Given the description of an element on the screen output the (x, y) to click on. 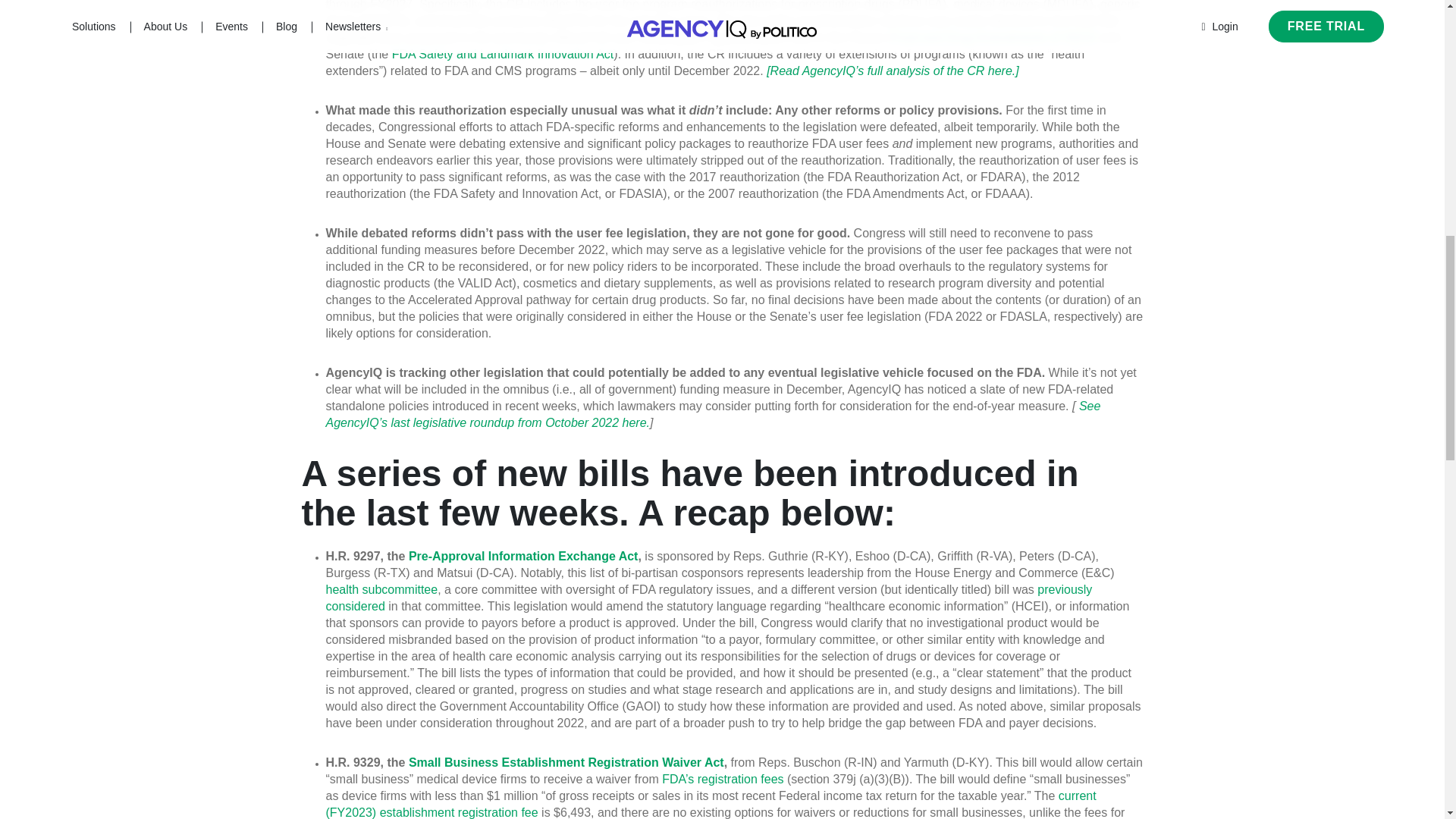
health subcommittee (382, 589)
Food and Drug Amendments of 20222 (993, 37)
previously considered (709, 597)
Small Business Establishment Registration Waiver Act (566, 762)
Pre-Approval Information Exchange Act (524, 555)
FDA Safety and Landmark Innovation Act (502, 53)
